Given the description of an element on the screen output the (x, y) to click on. 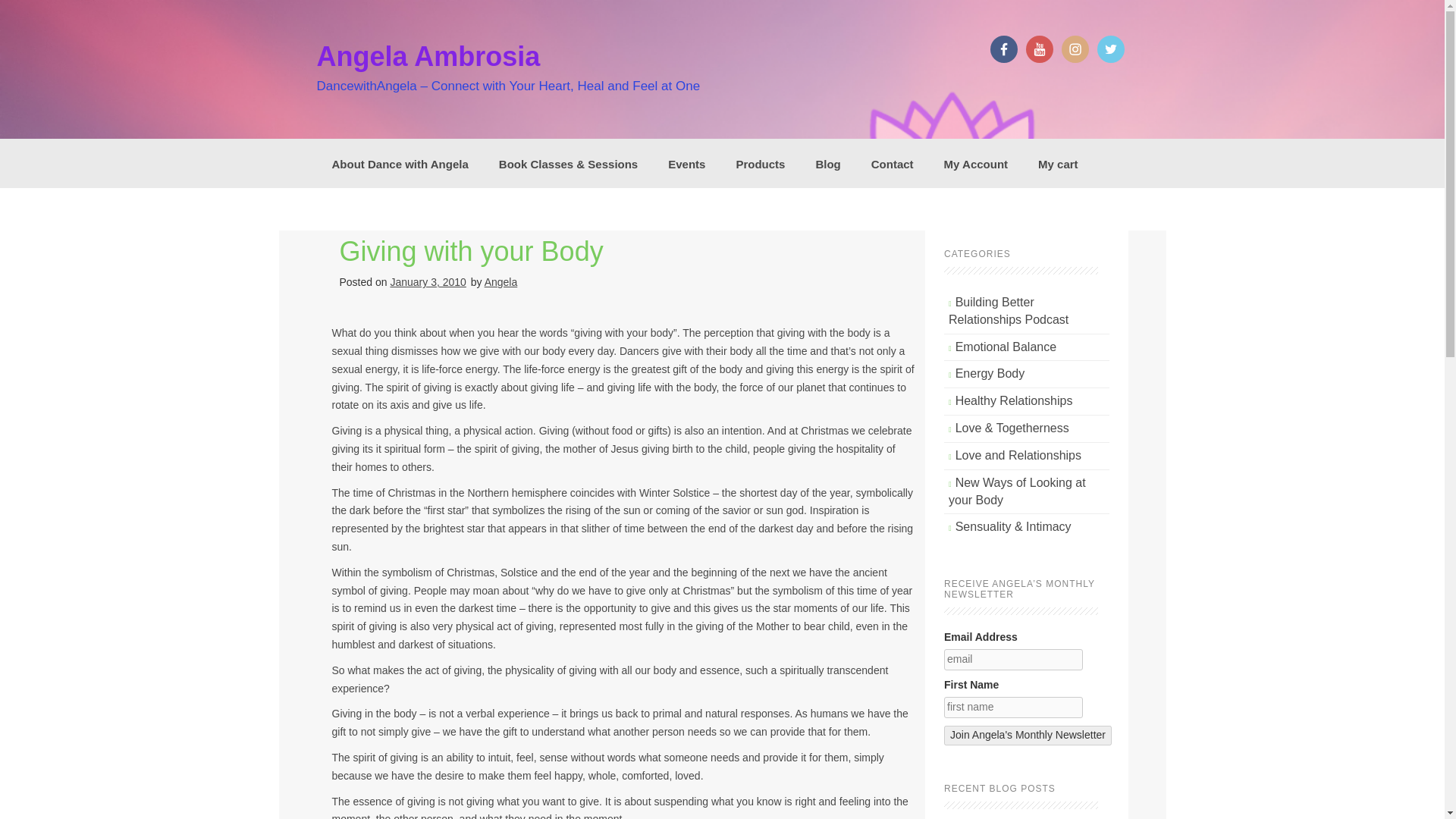
Emotional Balance (1006, 346)
About Dance with Angela (400, 162)
Angela Ambrosia (428, 56)
My Account (975, 162)
Blog (827, 162)
Products (759, 162)
New Ways of Looking at your Body (1017, 490)
January 3, 2010 (427, 282)
Join Angela's Monthly Newsletter (1027, 735)
Angela (501, 282)
My cart (1058, 162)
Healthy Relationships (1014, 400)
Contact (892, 162)
Join Angela's Monthly Newsletter (1027, 735)
Events (686, 162)
